Given the description of an element on the screen output the (x, y) to click on. 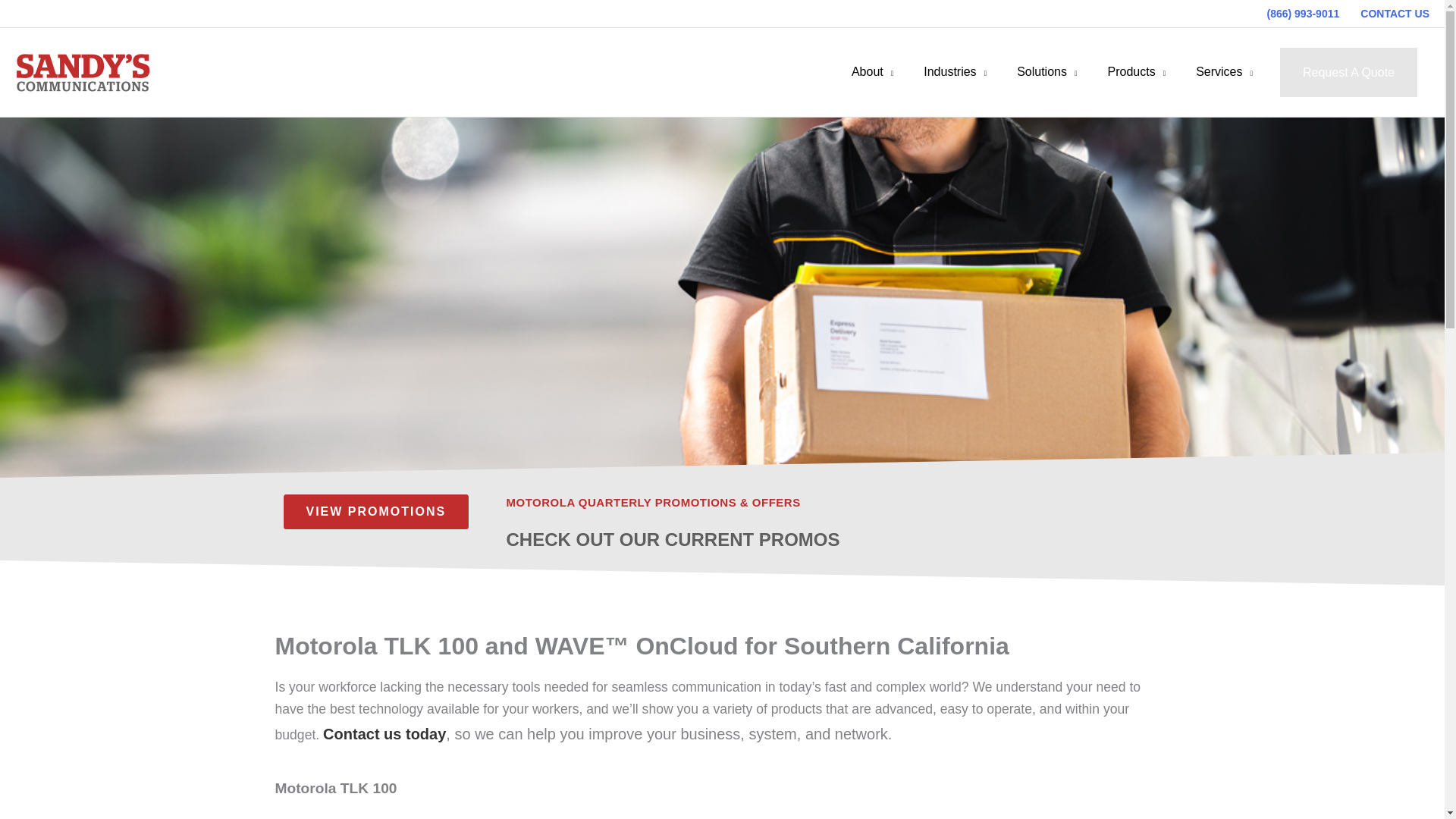
Industries (954, 71)
Solutions (1046, 71)
CONTACT US (1389, 13)
About (871, 71)
